Given the description of an element on the screen output the (x, y) to click on. 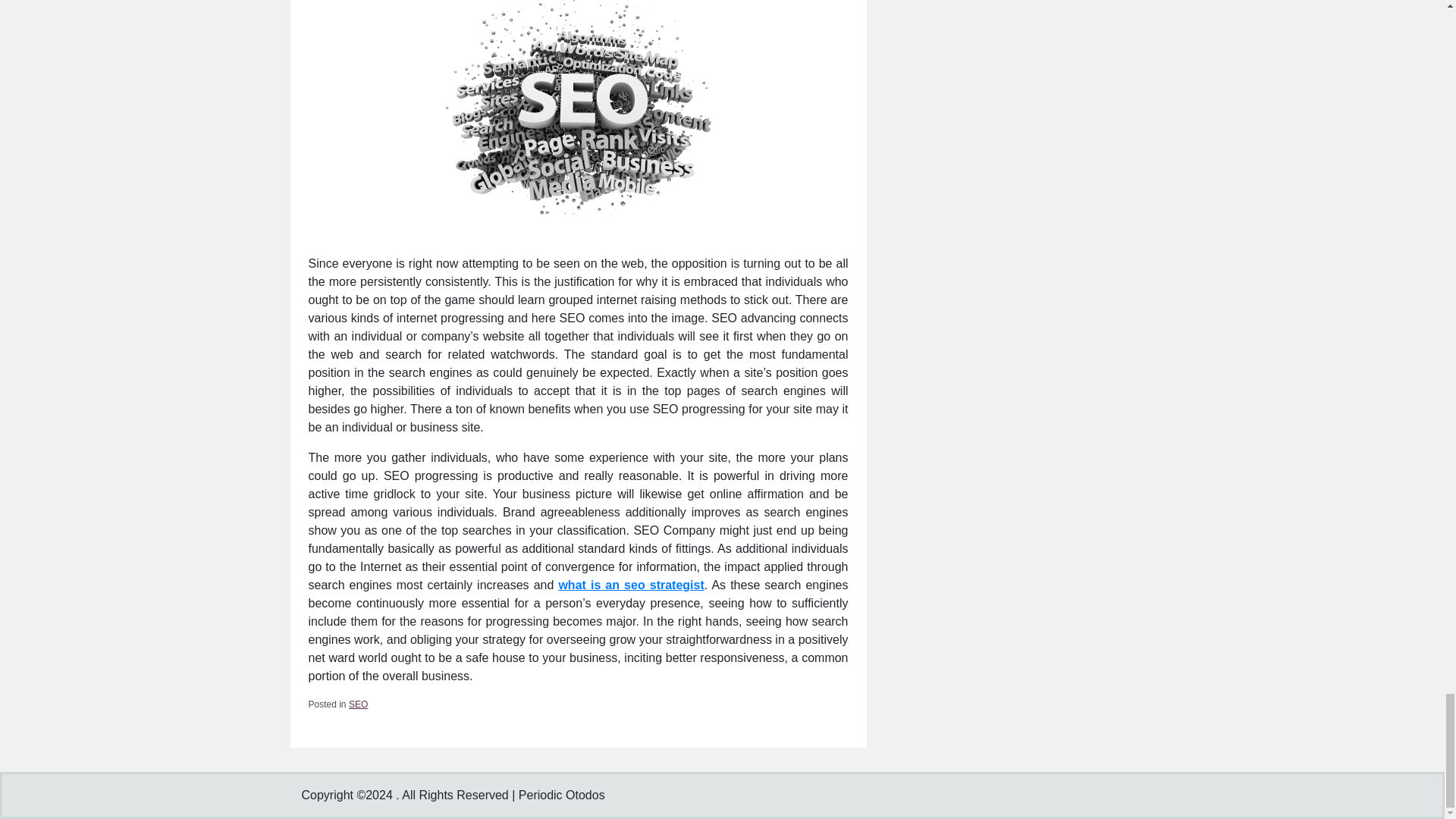
SEO (358, 704)
what is an seo strategist (630, 584)
